Given the description of an element on the screen output the (x, y) to click on. 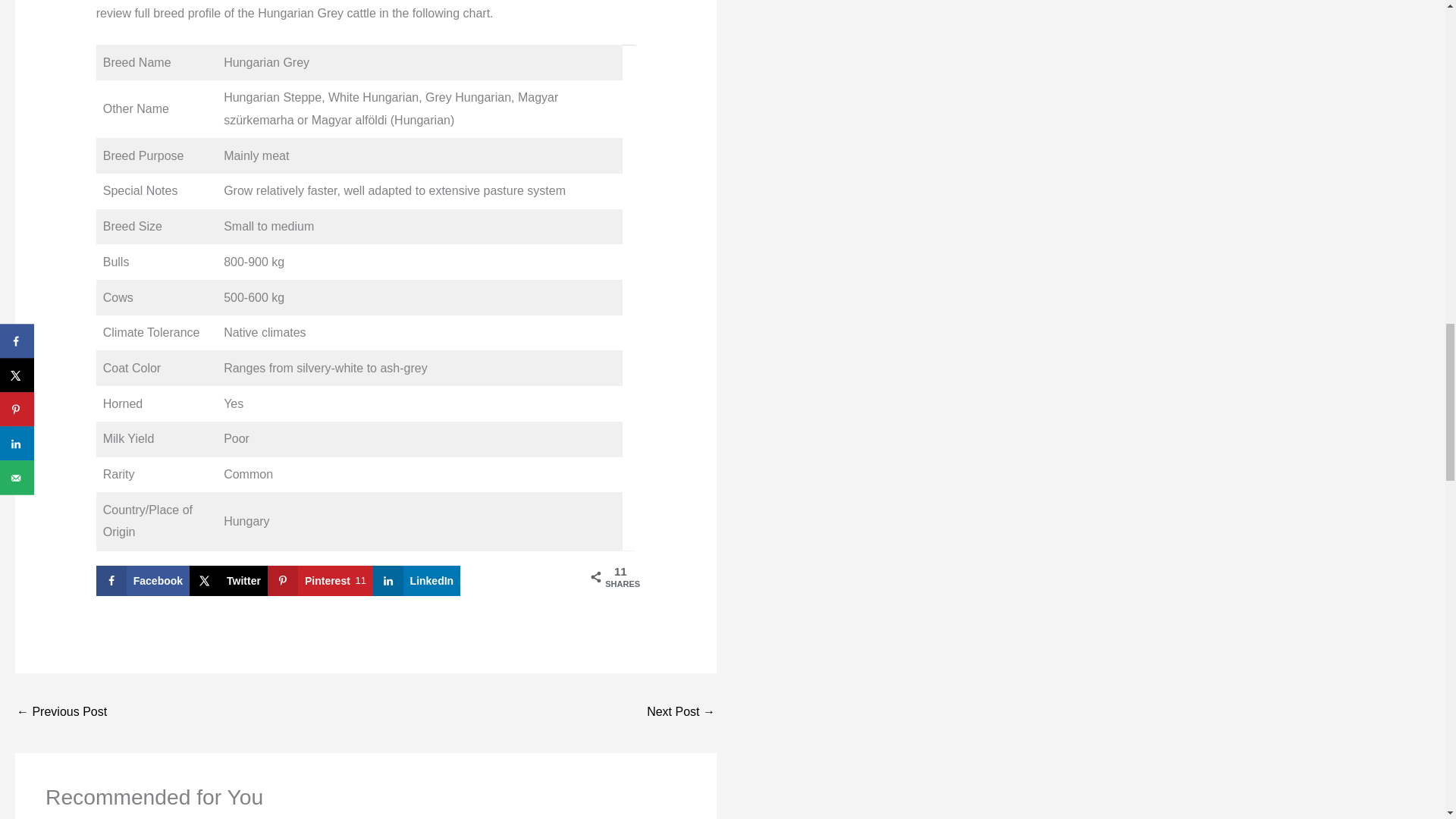
Save to Pinterest (319, 580)
Share on LinkedIn (416, 580)
Share on Facebook (142, 580)
Share on X (228, 580)
